Given the description of an element on the screen output the (x, y) to click on. 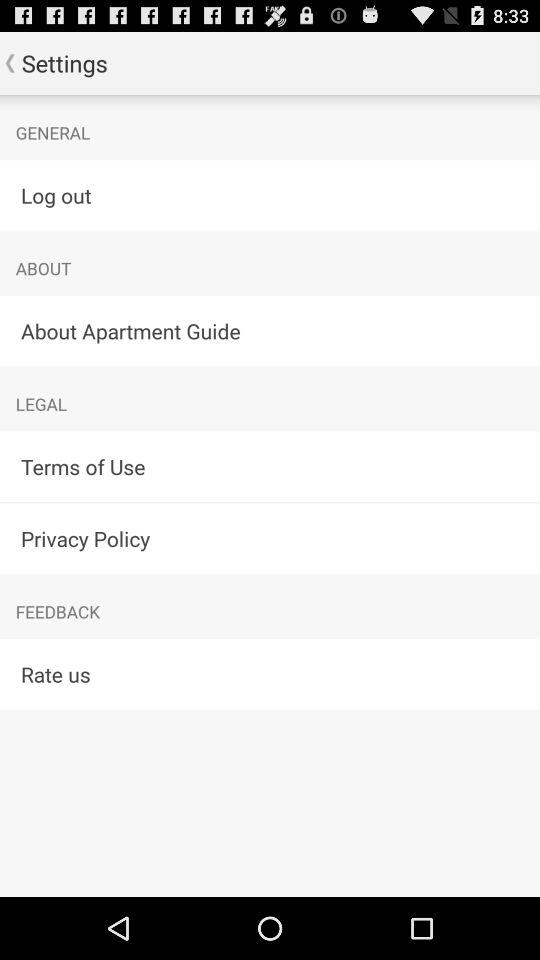
open rate us at the bottom (270, 673)
